Given the description of an element on the screen output the (x, y) to click on. 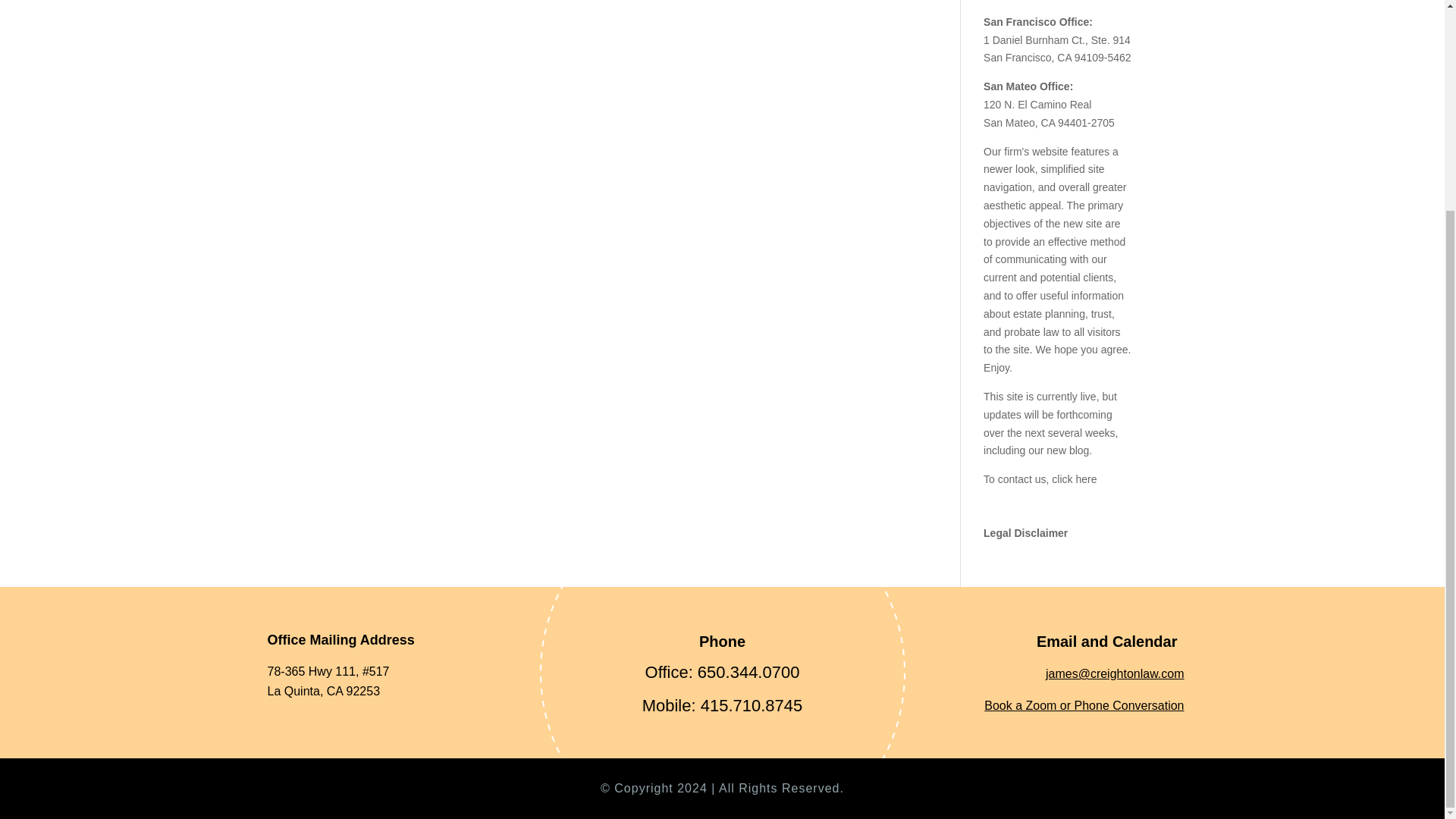
click here (1073, 479)
Legal Disclaimer (1025, 532)
Information Regarding This Website (1025, 532)
Book a Zoom or Phone Conversation (1083, 705)
